Given the description of an element on the screen output the (x, y) to click on. 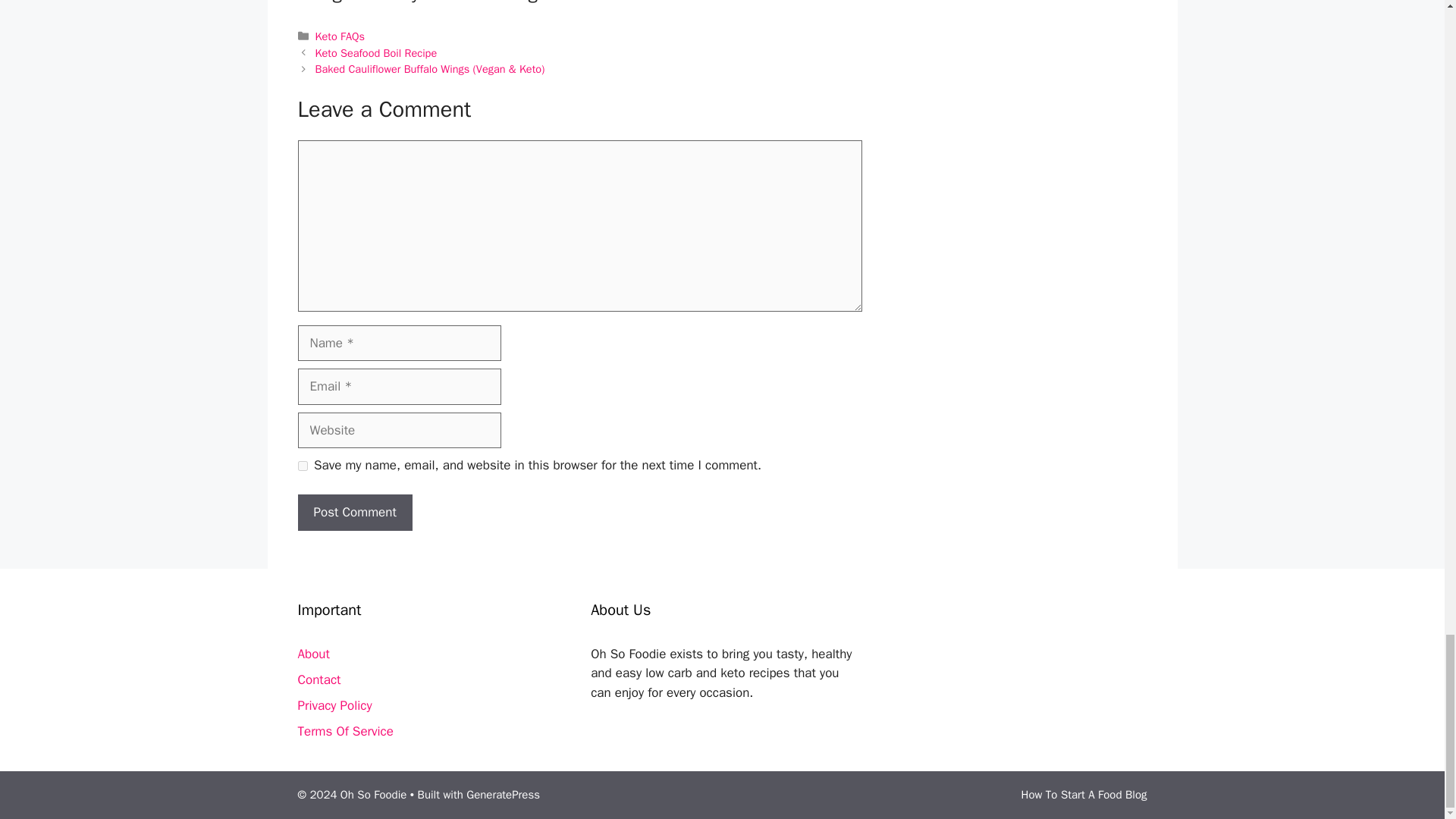
Next (429, 69)
Keto Seafood Boil Recipe (376, 52)
Keto FAQs (340, 36)
Previous (376, 52)
Post Comment (354, 512)
yes (302, 465)
Post Comment (354, 512)
